Given the description of an element on the screen output the (x, y) to click on. 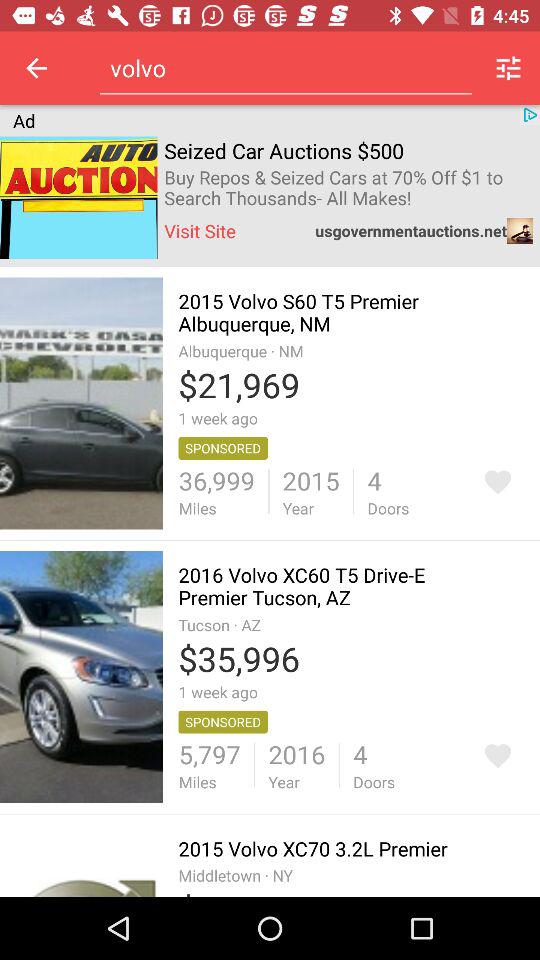
go back (497, 482)
